Given the description of an element on the screen output the (x, y) to click on. 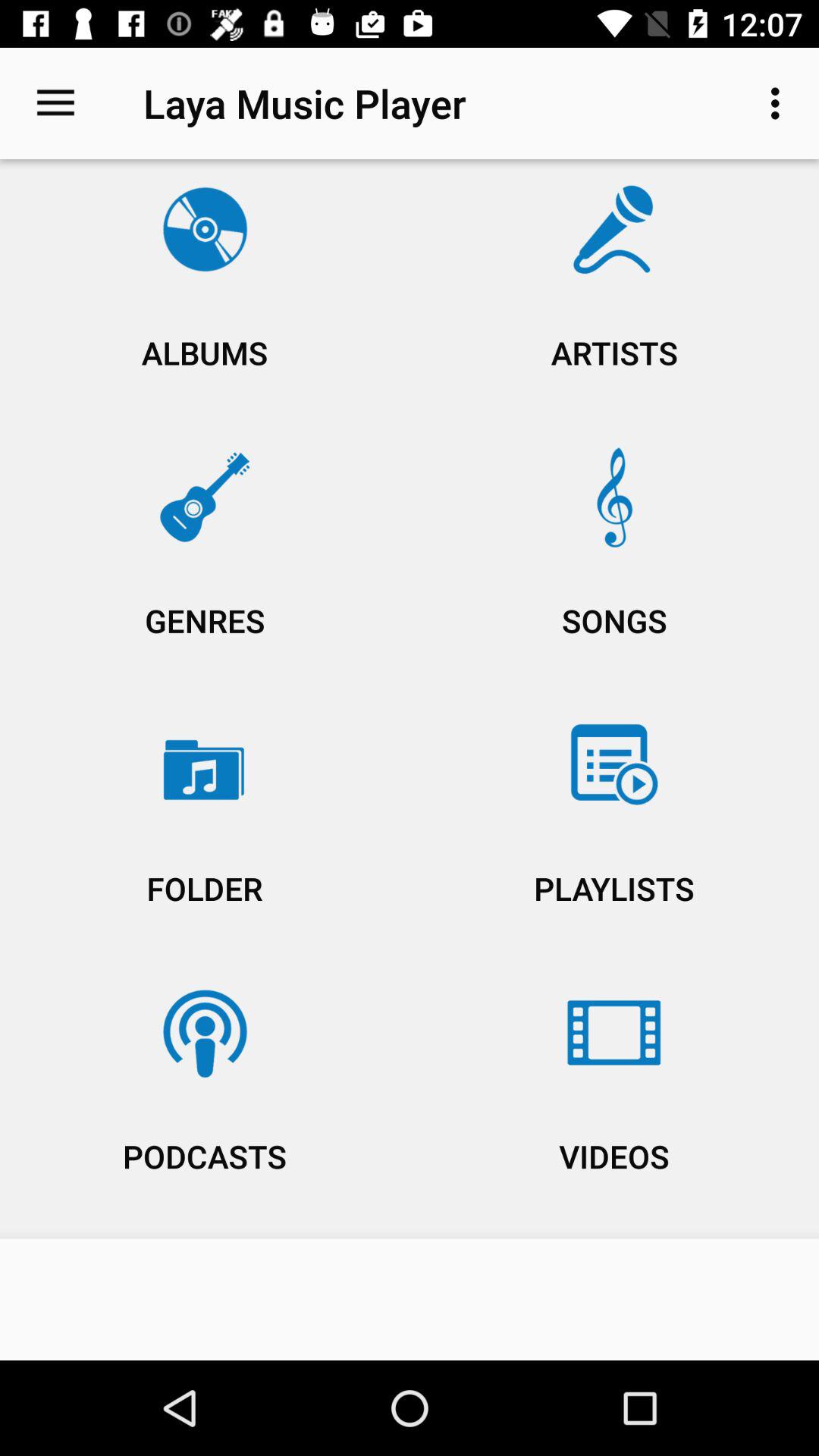
turn on playlists (614, 832)
